Given the description of an element on the screen output the (x, y) to click on. 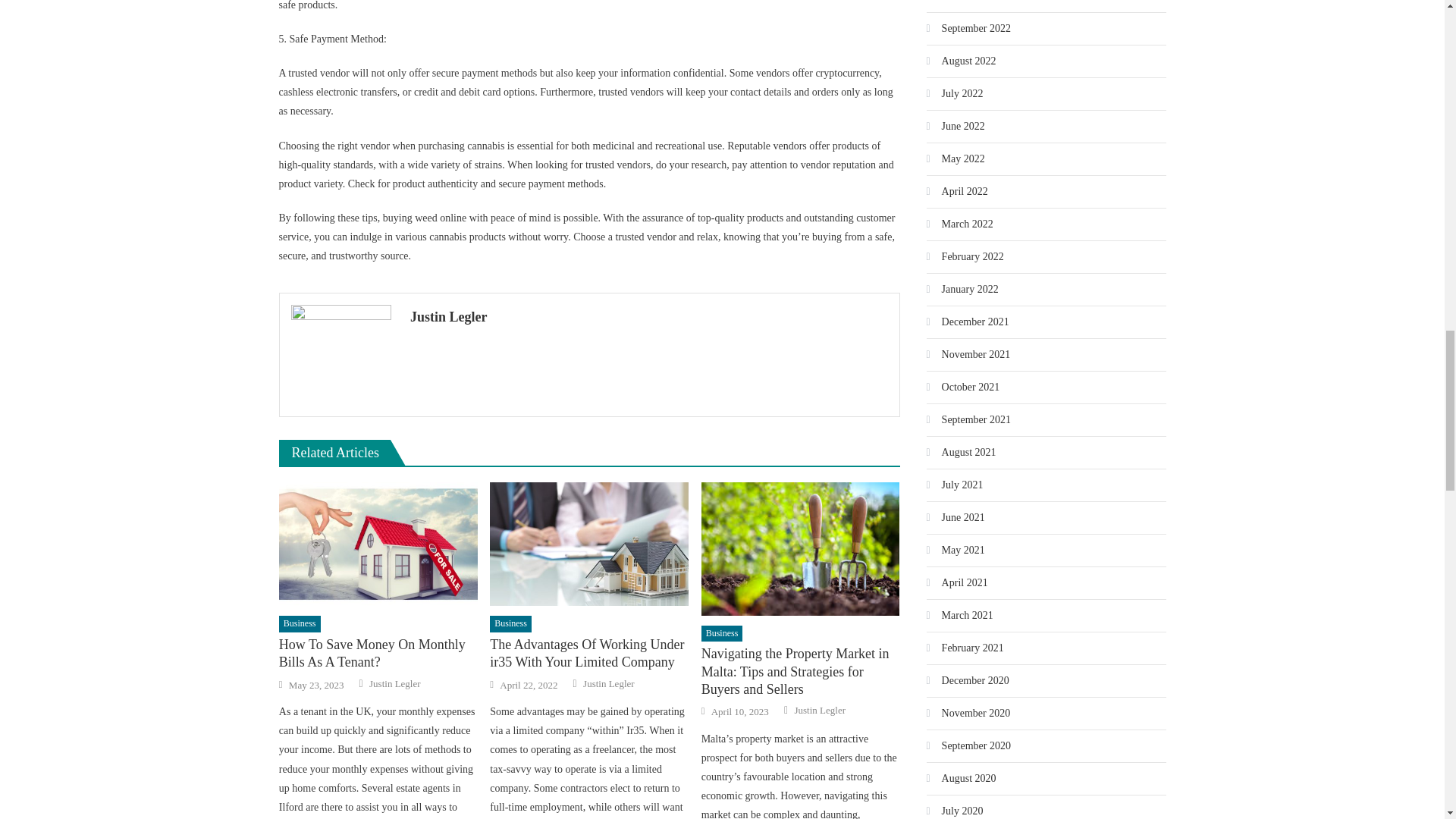
How To Save Money On Monthly Bills As A Tenant? (378, 544)
Business (510, 623)
April 10, 2023 (739, 712)
How To Save Money On Monthly Bills As A Tenant? (378, 653)
Business (299, 623)
Justin Legler (649, 316)
